Given the description of an element on the screen output the (x, y) to click on. 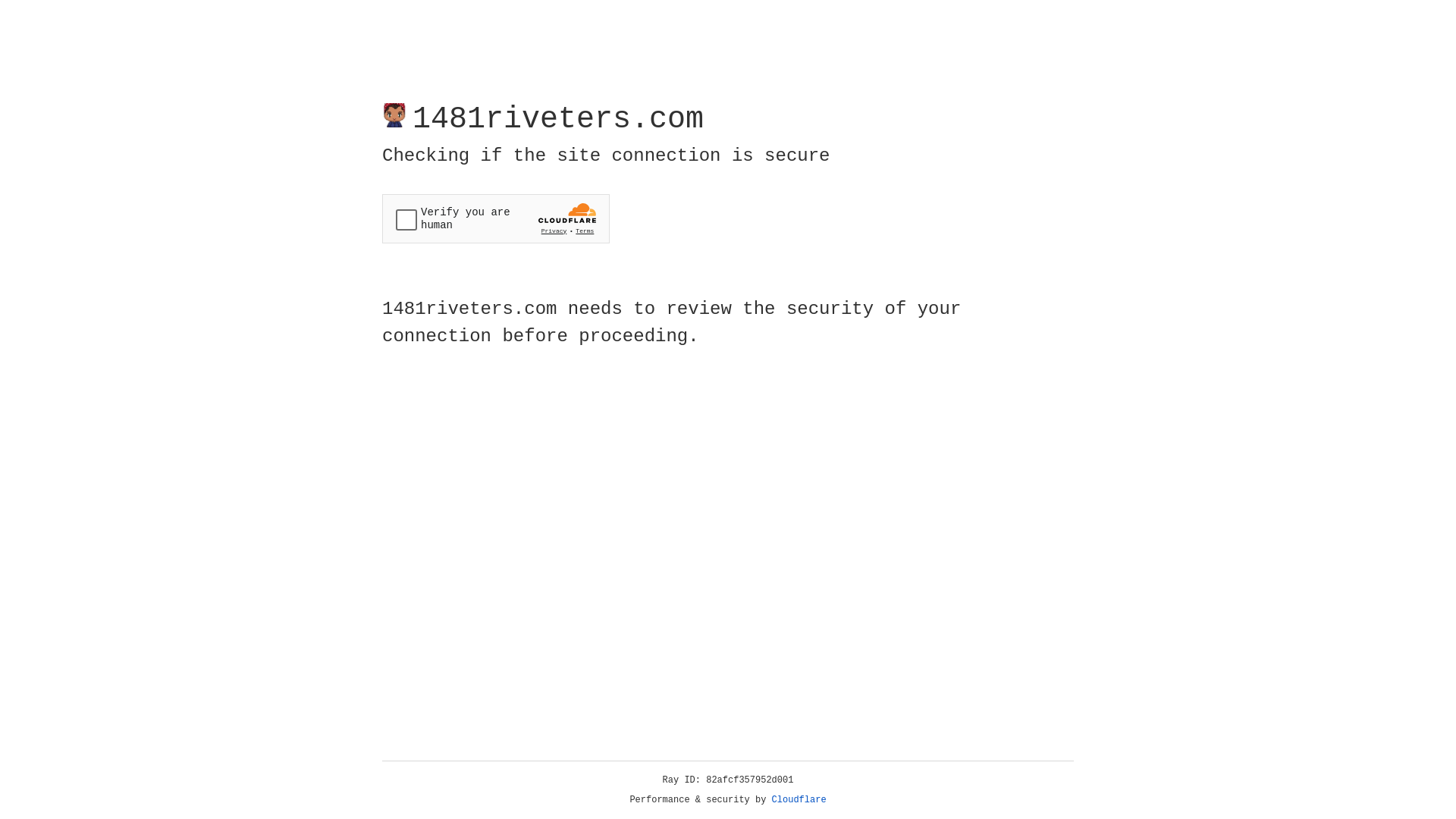
Cloudflare Element type: text (798, 799)
Widget containing a Cloudflare security challenge Element type: hover (495, 218)
